Given the description of an element on the screen output the (x, y) to click on. 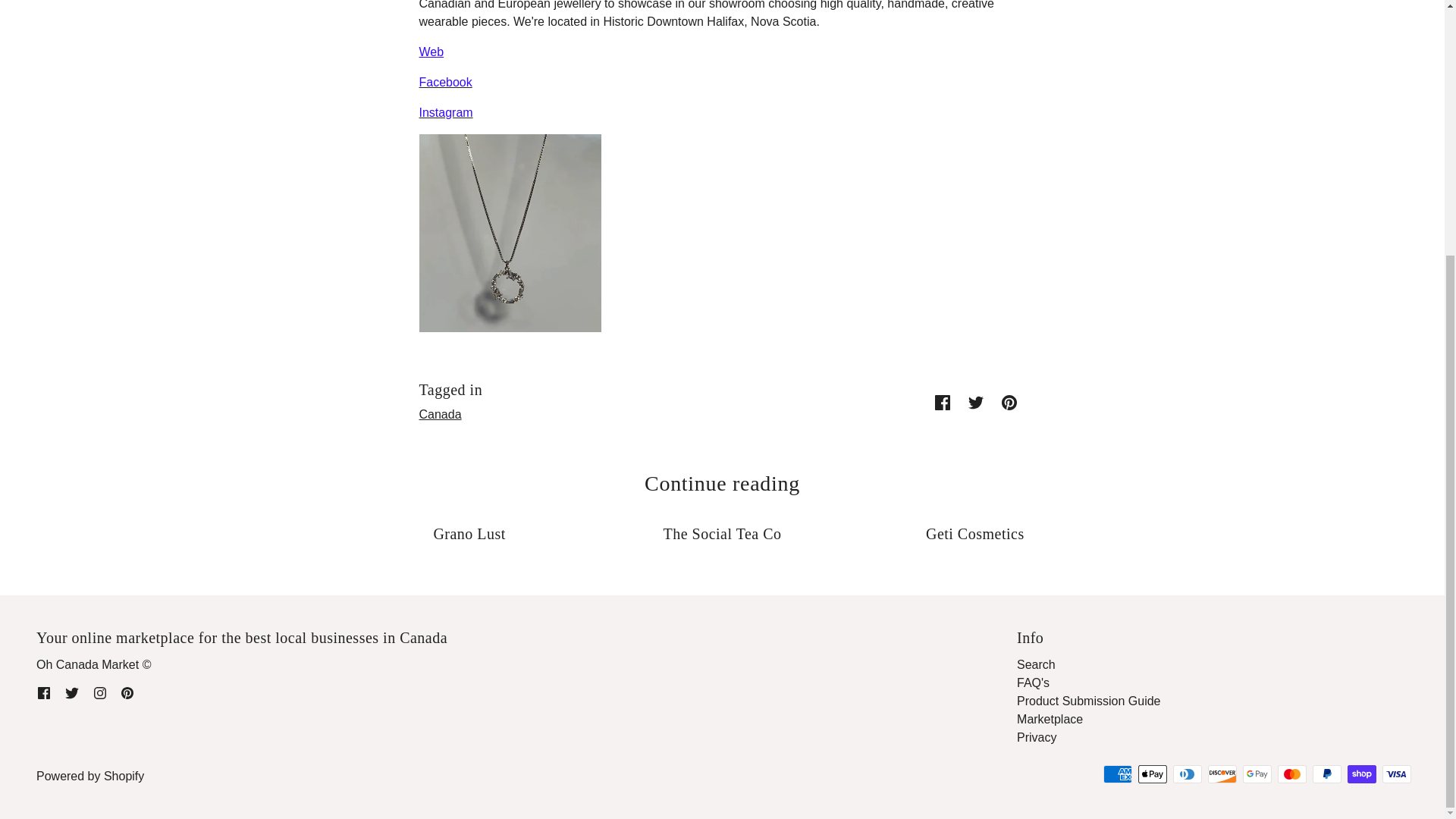
PayPal (1326, 773)
Mastercard (1292, 773)
Shop Pay (1361, 773)
Marketplace (1049, 718)
Discover (1222, 773)
Product Submission Guide (1088, 700)
American Express (1117, 773)
Privacy (1036, 737)
Search (1035, 664)
Google Pay (1257, 773)
Apple Pay (1152, 773)
Diners Club (1187, 773)
FAQ's (1032, 682)
